Given the description of an element on the screen output the (x, y) to click on. 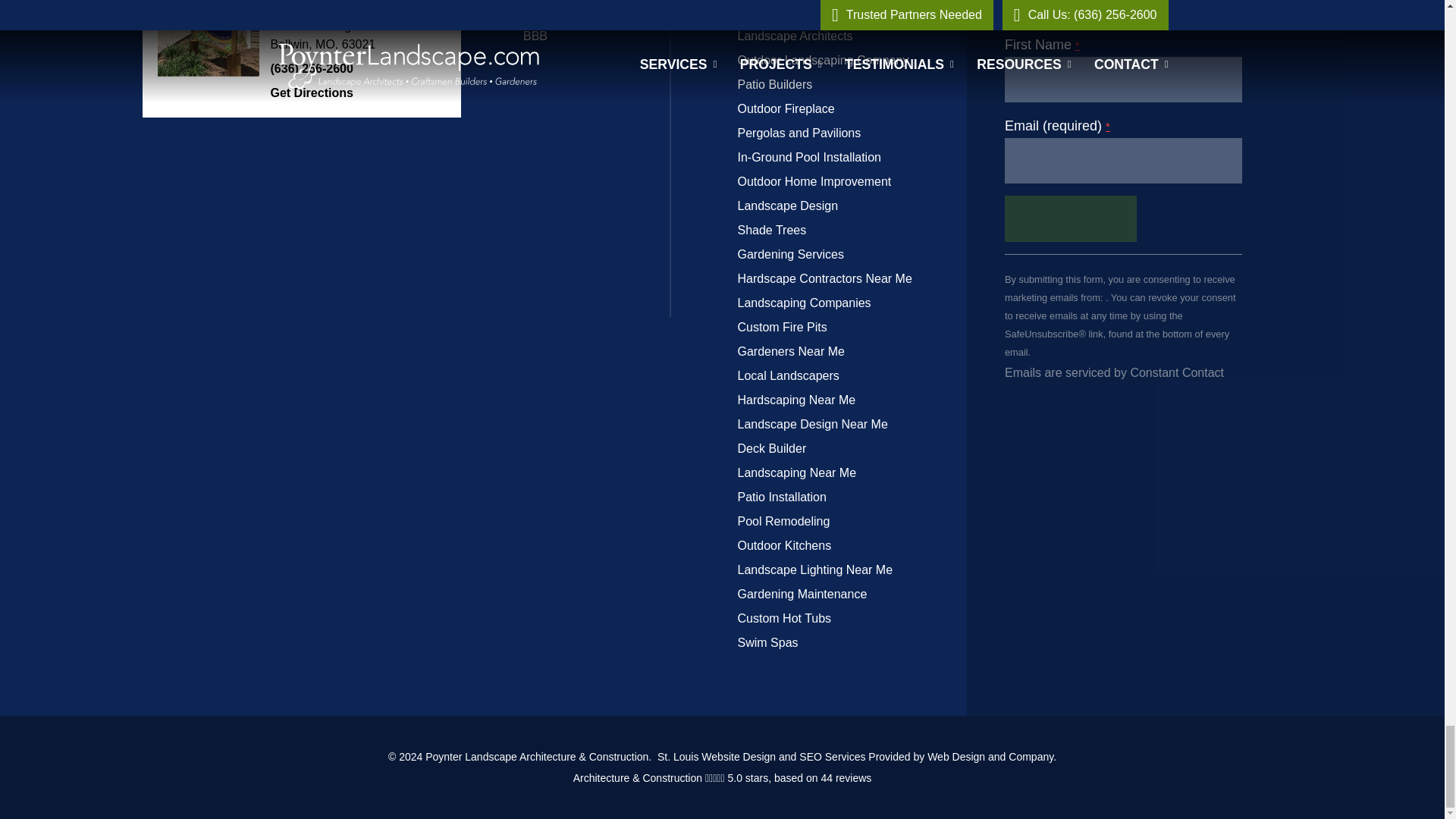
Sign up (1070, 217)
